Given the description of an element on the screen output the (x, y) to click on. 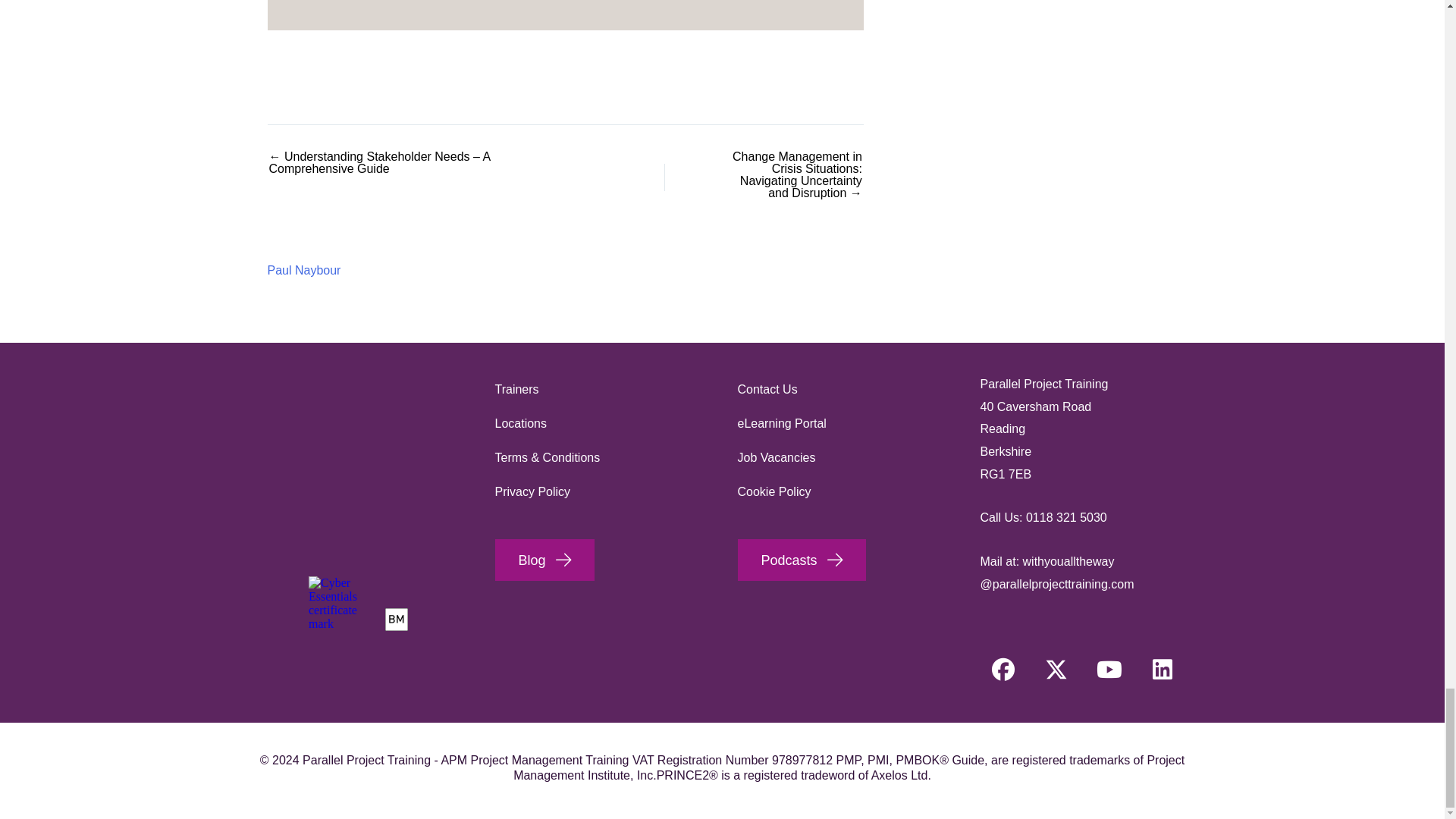
Facebook (1002, 669)
YouTube (1108, 669)
LinkedIn (1161, 669)
white-geese-logo-min (357, 448)
